Given the description of an element on the screen output the (x, y) to click on. 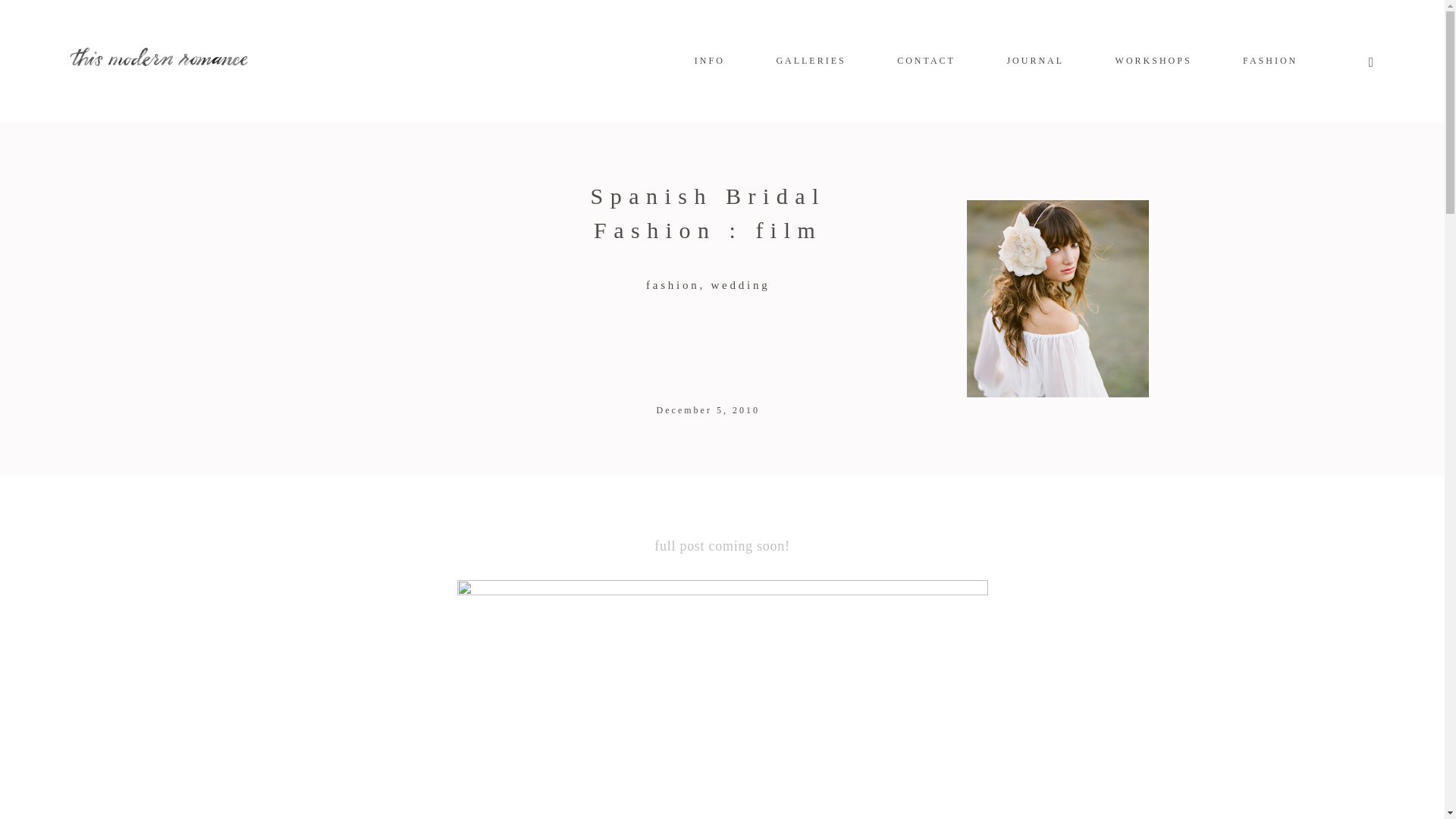
WORKSHOPS (1153, 60)
GALLERIES (810, 60)
INFO (709, 60)
fashion (675, 285)
FASHION (1270, 60)
JOURNAL (1035, 60)
wedding (740, 285)
CONTACT (925, 60)
